Given the description of an element on the screen output the (x, y) to click on. 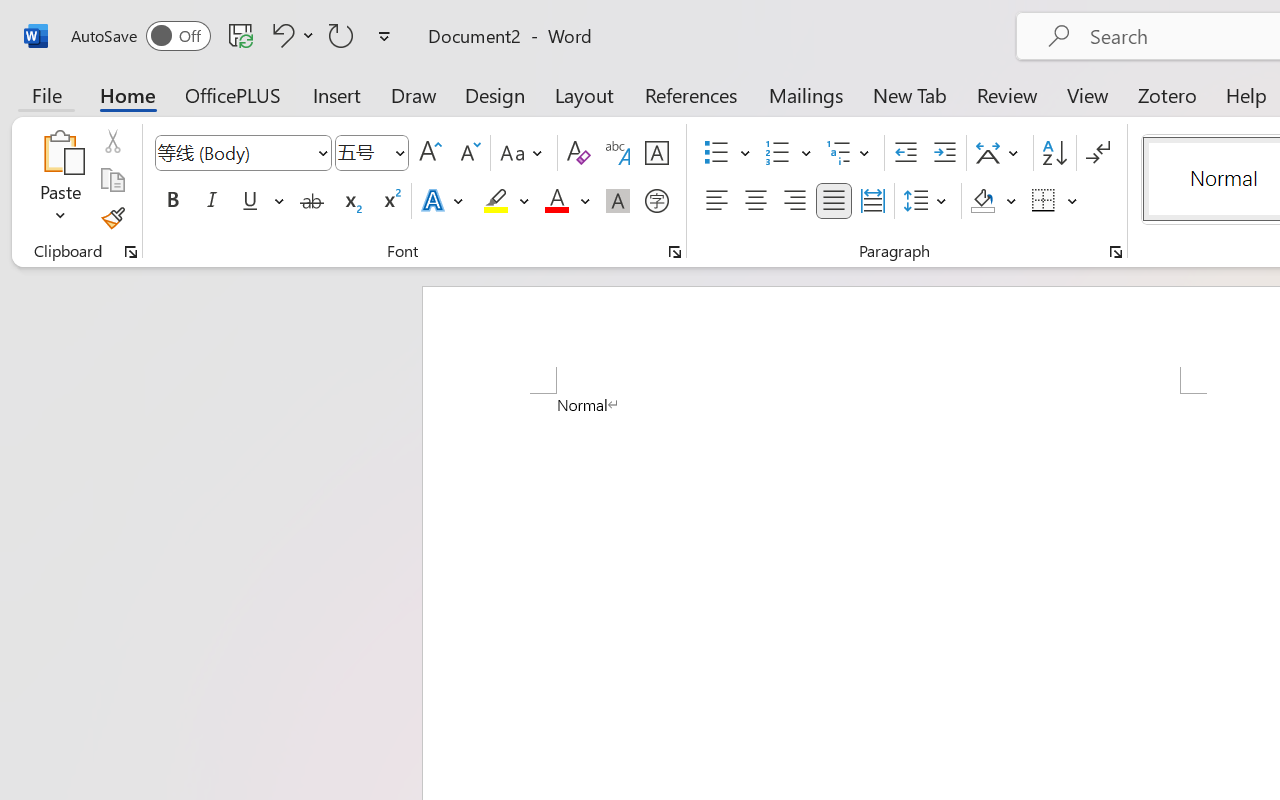
Multilevel List (850, 153)
Review (1007, 94)
Clear Formatting (578, 153)
OfficePLUS (233, 94)
Undo Apply Quick Style (280, 35)
Show/Hide Editing Marks (1098, 153)
Grow Font (430, 153)
Decrease Indent (906, 153)
Sort... (1054, 153)
Text Effects and Typography (444, 201)
Font (242, 153)
Font Color (567, 201)
Font... (675, 252)
Shading (993, 201)
Draw (413, 94)
